Given the description of an element on the screen output the (x, y) to click on. 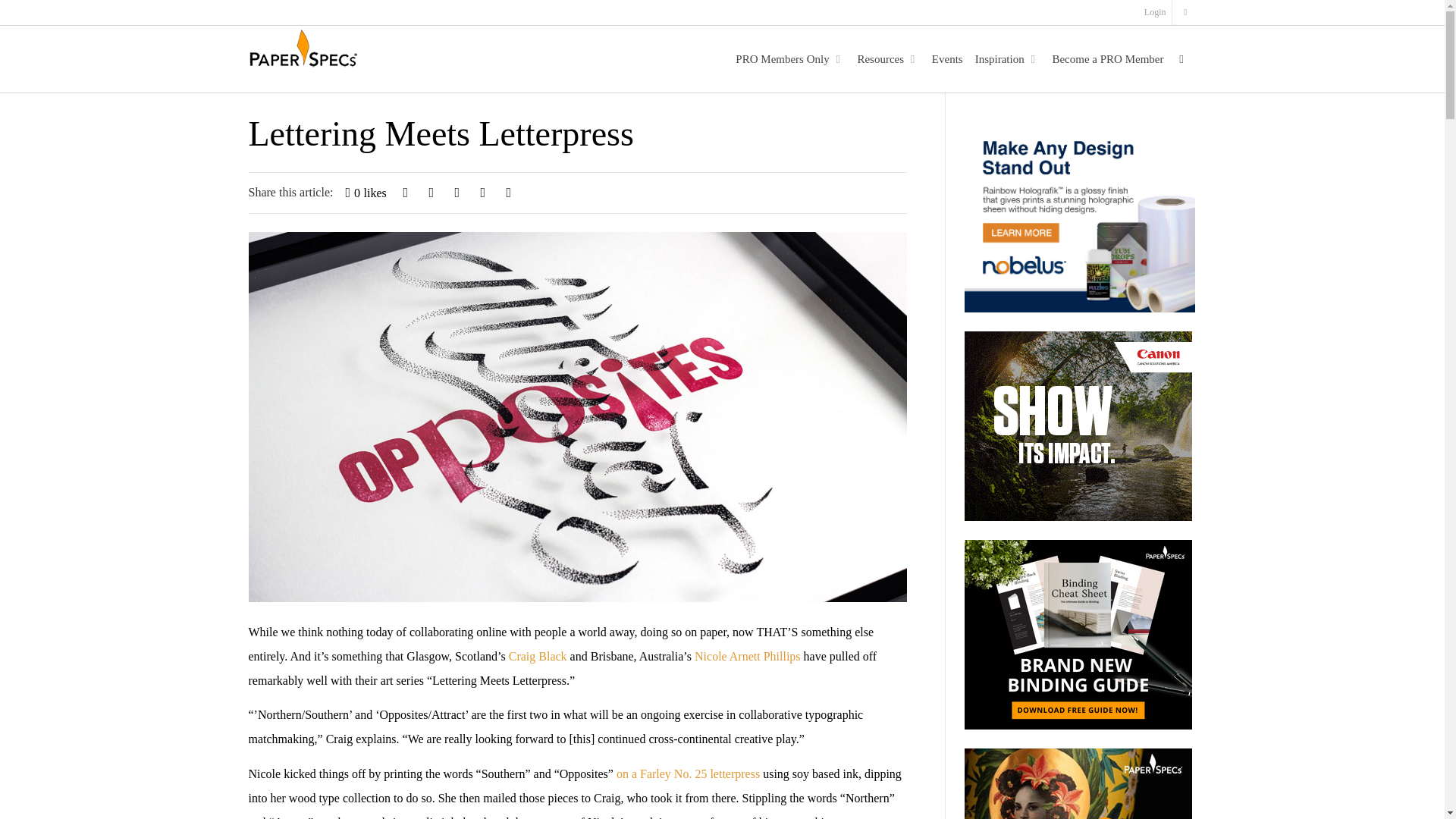
Login (1155, 12)
Login (1155, 12)
PRO Members Only (785, 58)
View Cart (1184, 12)
PRO Members Only (785, 58)
PaperSpecs (302, 49)
